Given the description of an element on the screen output the (x, y) to click on. 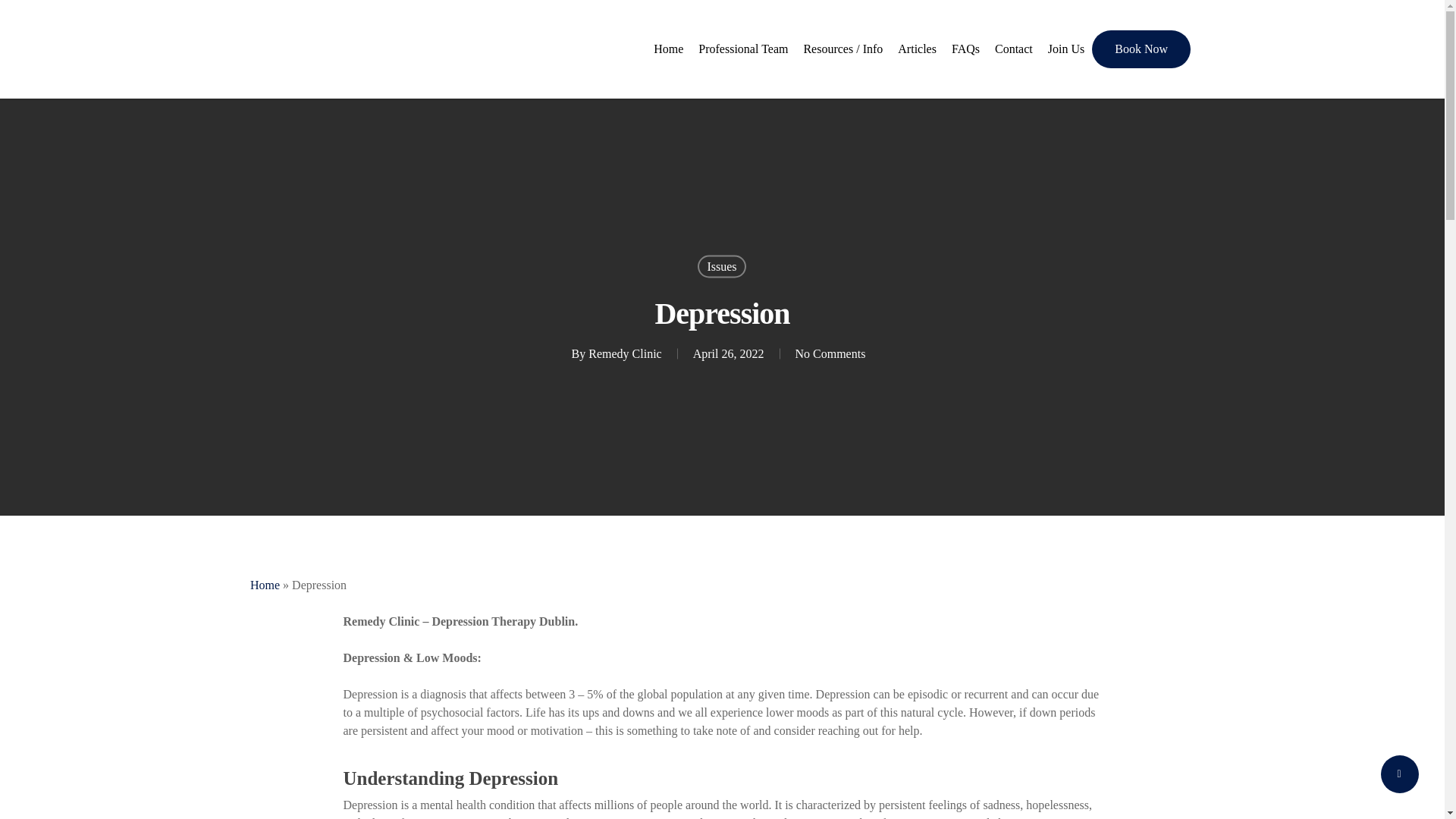
FAQs (965, 49)
Posts by Remedy Clinic (624, 353)
Remedy Clinic (624, 353)
Home (264, 584)
Join Us (1066, 49)
Issues (721, 265)
Book Now (1141, 48)
Home (668, 49)
Professional Team (742, 49)
No Comments (829, 353)
